Given the description of an element on the screen output the (x, y) to click on. 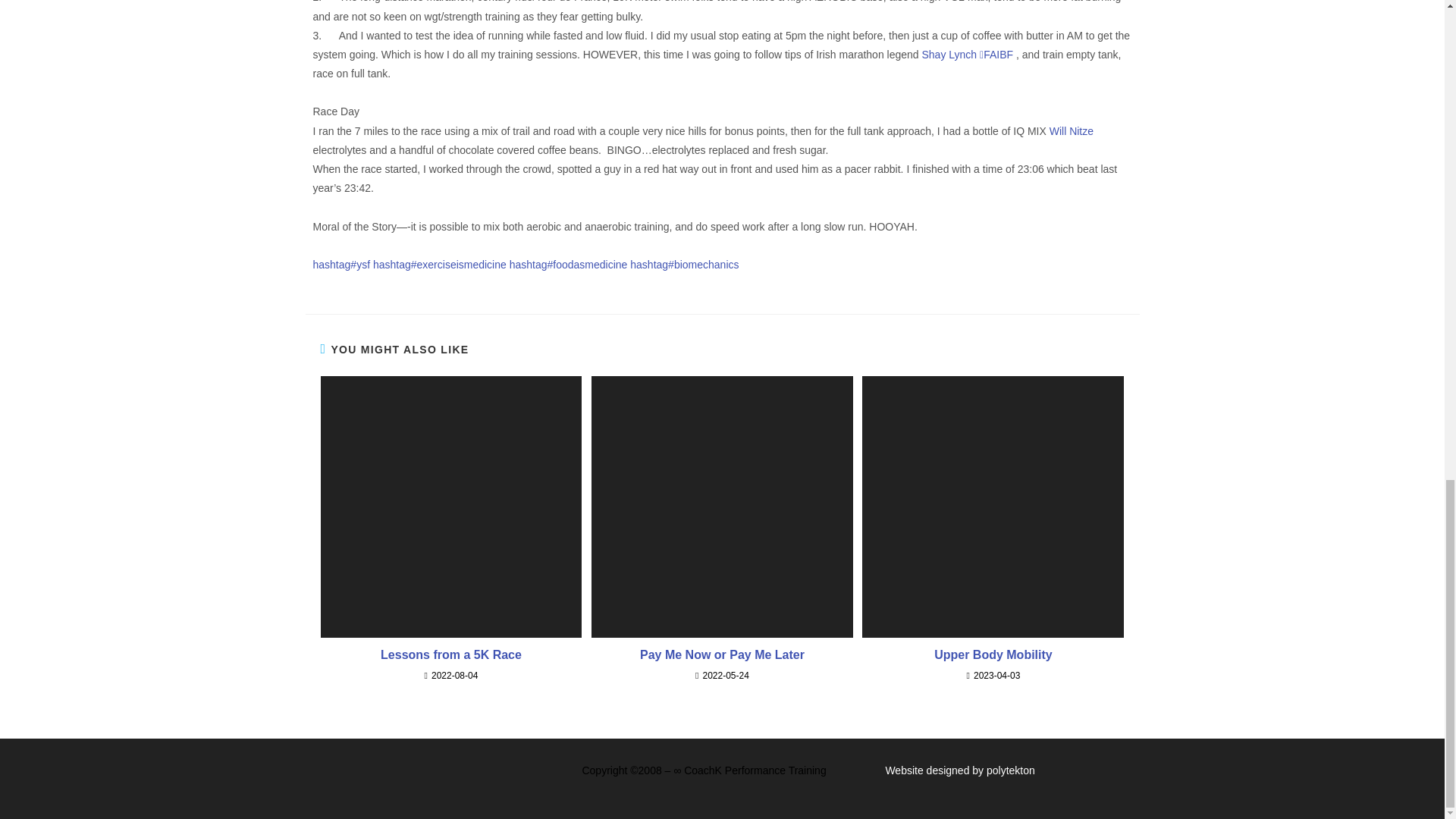
Will Nitze (1071, 131)
